Given the description of an element on the screen output the (x, y) to click on. 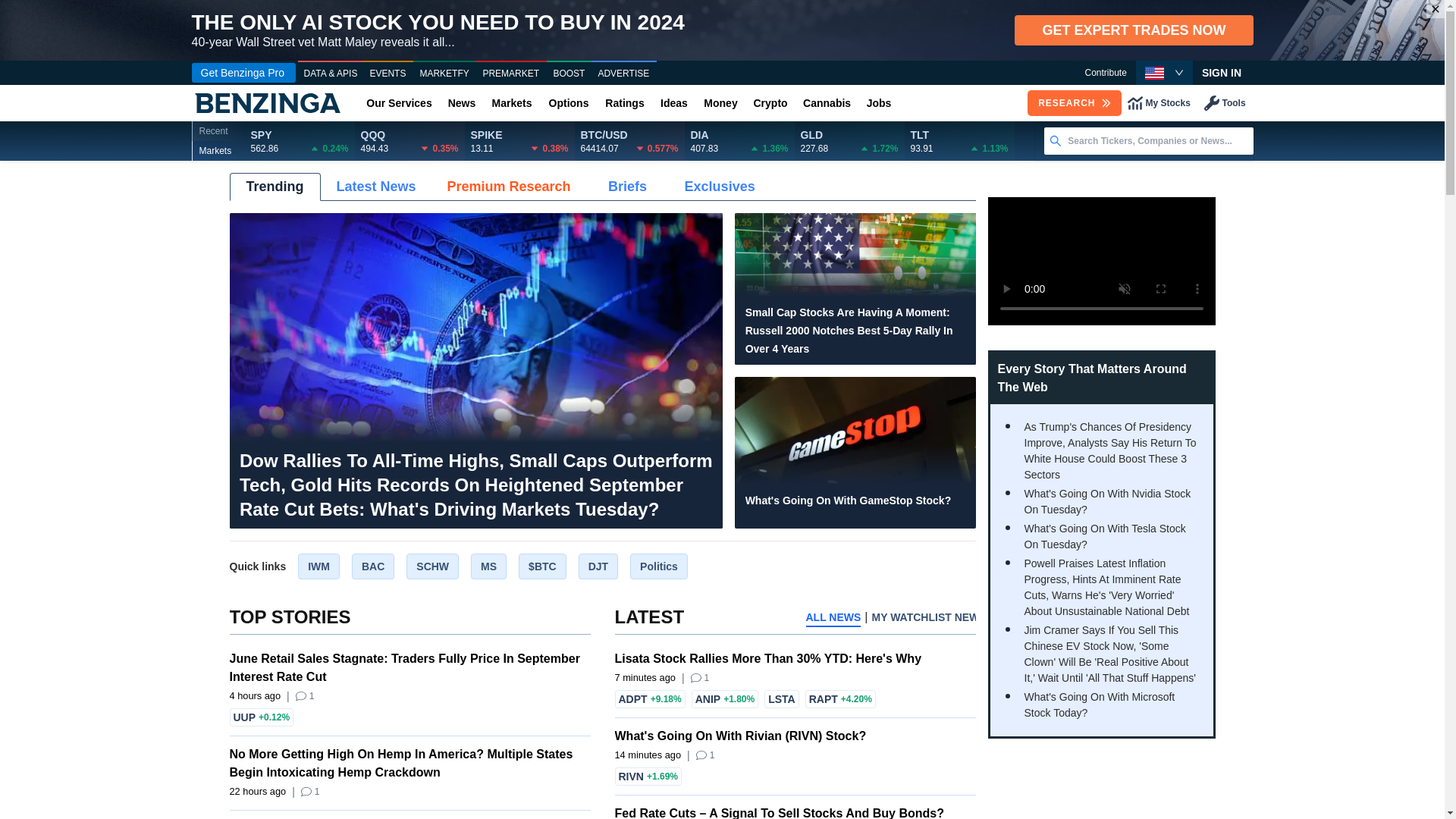
GET EXPERT TRADES NOW (1133, 30)
PREMARKET (511, 73)
Our Services (398, 103)
Our Services (398, 103)
ADVERTISE (623, 73)
Markets (511, 103)
News (461, 103)
Get Benzinga Pro (242, 72)
USA (1153, 72)
SIGN IN (1221, 72)
News (461, 103)
Contribute (1104, 72)
BOOST (569, 73)
EVENTS (387, 73)
MARKETFY (444, 73)
